Given the description of an element on the screen output the (x, y) to click on. 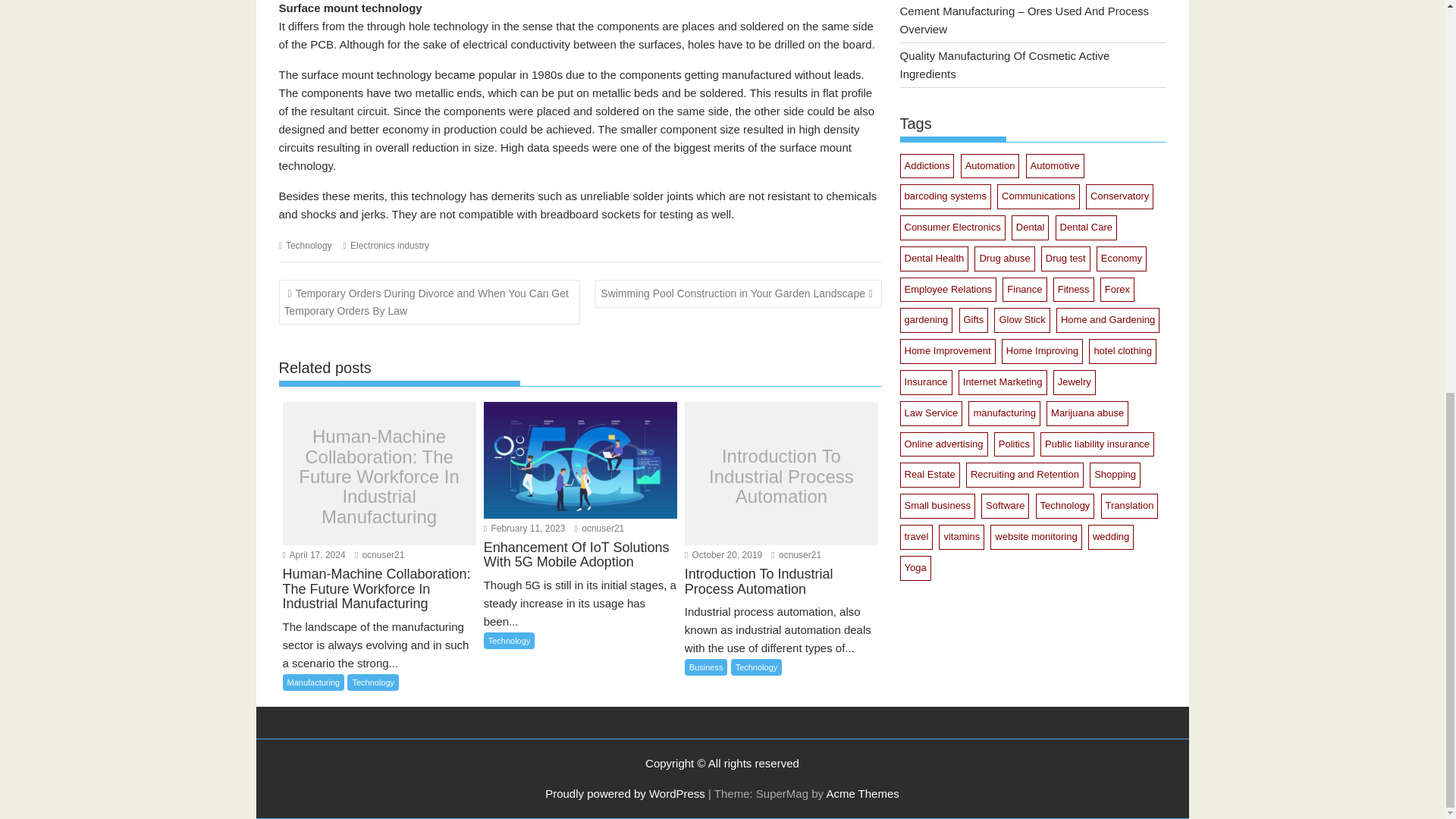
ocnuser21 (599, 528)
Swimming Pool Construction in Your Garden Landscape (738, 293)
Technology (308, 245)
ocnuser21 (796, 554)
Electronics industry (389, 245)
ocnuser21 (379, 554)
